Given the description of an element on the screen output the (x, y) to click on. 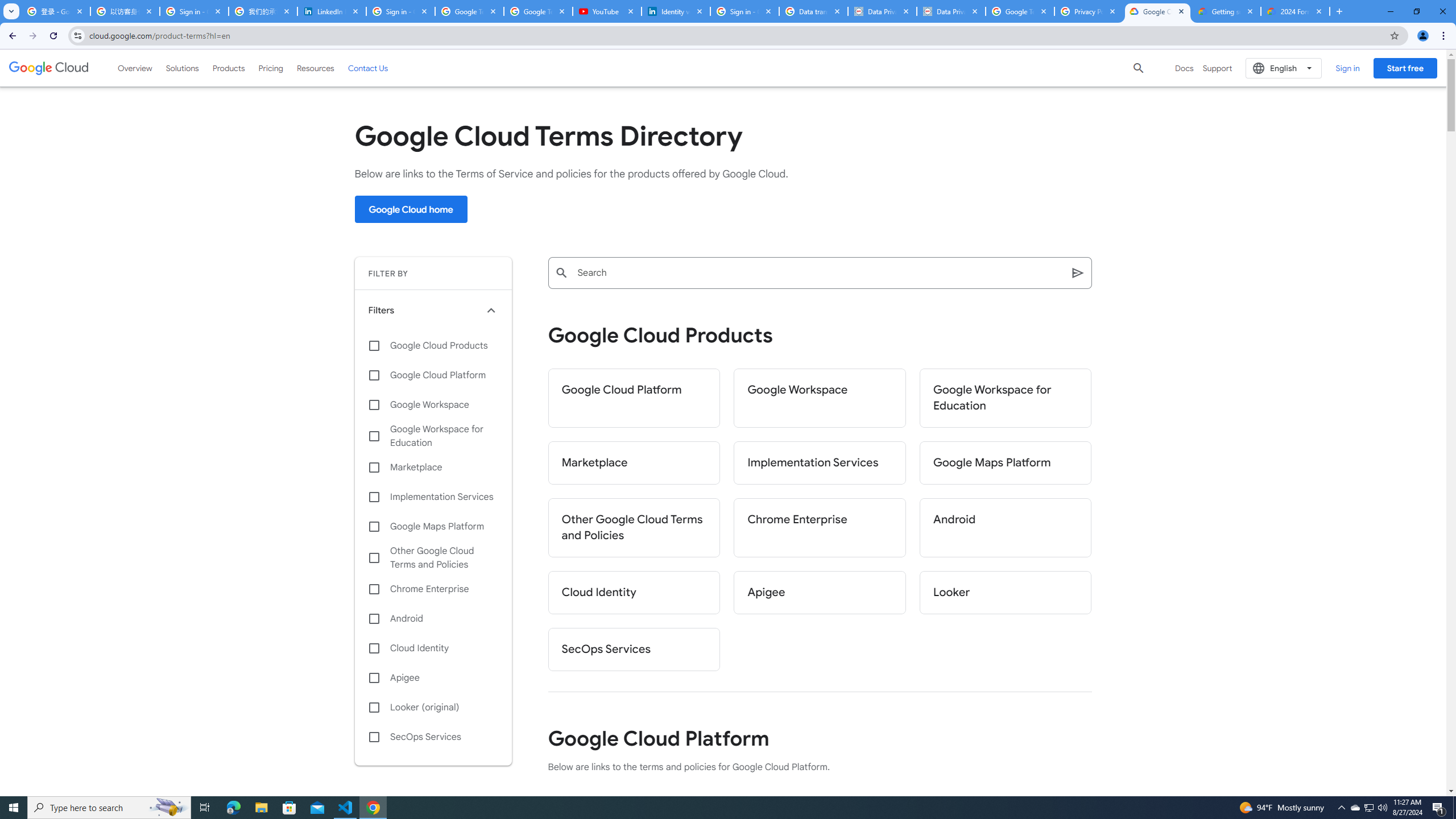
Contact Us (368, 67)
Products (228, 67)
Back (10, 35)
Cloud Identity (633, 592)
You (1422, 35)
Marketplace (432, 467)
Apigee (432, 677)
Other Google Cloud Terms and Policies (432, 557)
Google Workspace for Education (1005, 397)
Google Workspace (819, 397)
Search tabs (10, 11)
